Given the description of an element on the screen output the (x, y) to click on. 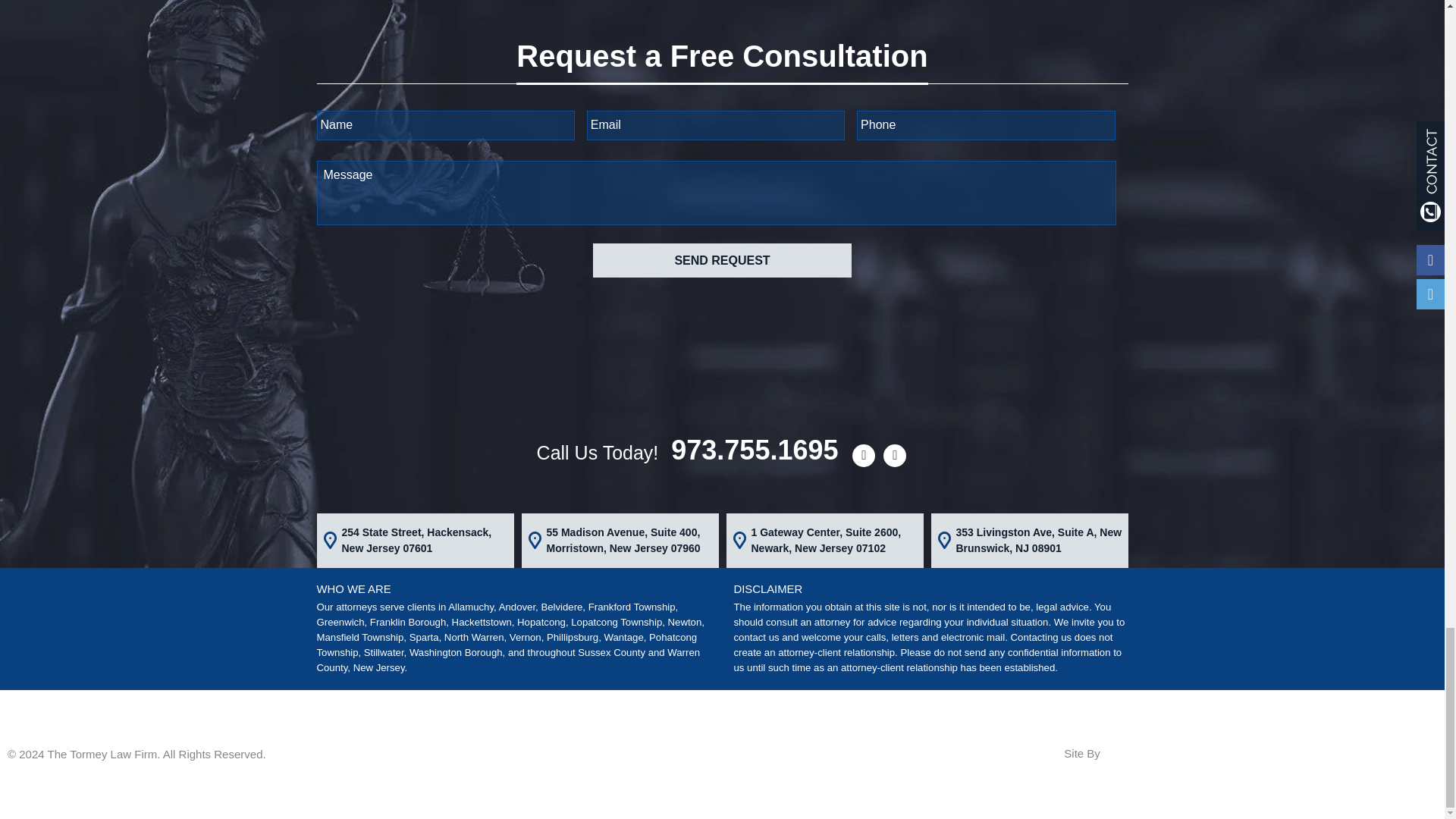
Send Request (721, 260)
